Given the description of an element on the screen output the (x, y) to click on. 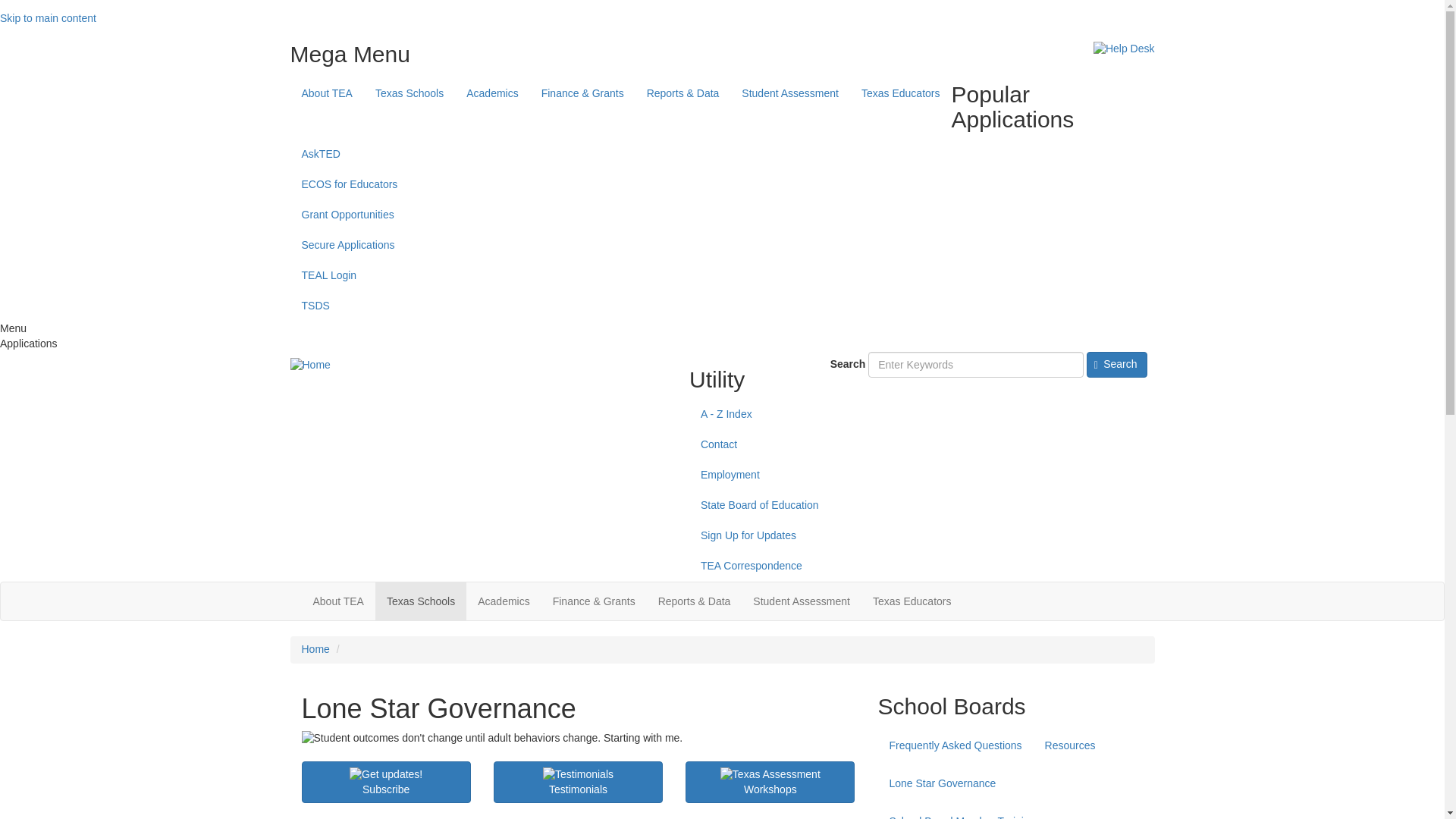
Help Desk (1123, 48)
See What Others Have Said (577, 781)
Attend a Workshop (770, 774)
Attend a Workshop (769, 781)
See What Others Have Said (577, 774)
Skip to main content (48, 18)
Texas Schools (409, 93)
Academics (491, 93)
Sign Up for Updates (385, 774)
Sign Up for Updates (385, 781)
Home (309, 365)
About TEA (325, 93)
lone-star-governance-banner-hero-img.jpg (578, 738)
